Given the description of an element on the screen output the (x, y) to click on. 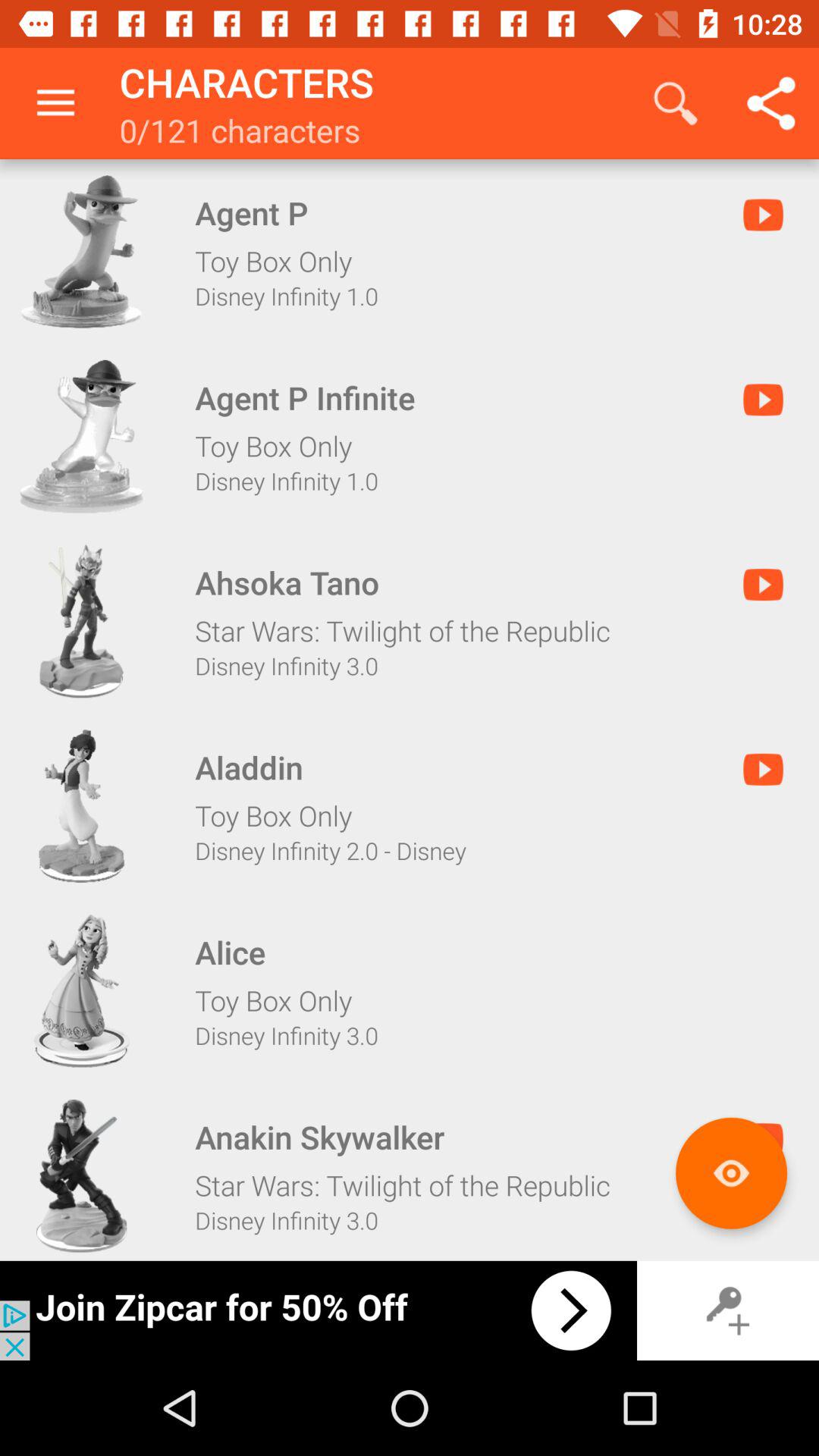
view option (81, 805)
